Given the description of an element on the screen output the (x, y) to click on. 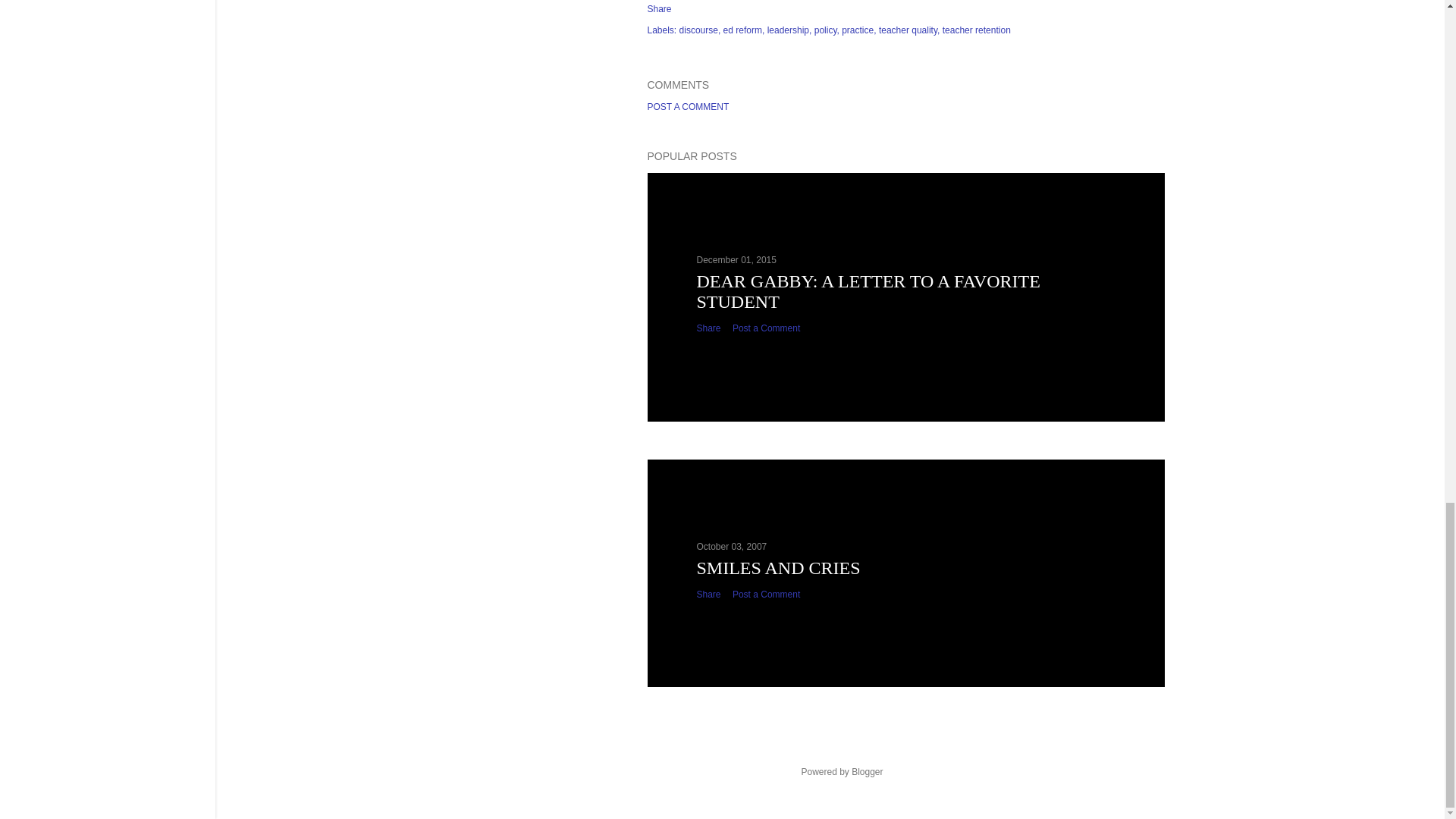
POST A COMMENT (688, 106)
practice (858, 30)
Share (659, 9)
ed reform (744, 30)
October 03, 2007 (731, 546)
teacher quality (909, 30)
Post a Comment (765, 327)
Share (707, 593)
policy (826, 30)
leadership (789, 30)
Post a Comment (765, 593)
DEAR GABBY: A LETTER TO A FAVORITE STUDENT (867, 291)
discourse (699, 30)
SMILES AND CRIES (777, 567)
permanent link (735, 259)
